Given the description of an element on the screen output the (x, y) to click on. 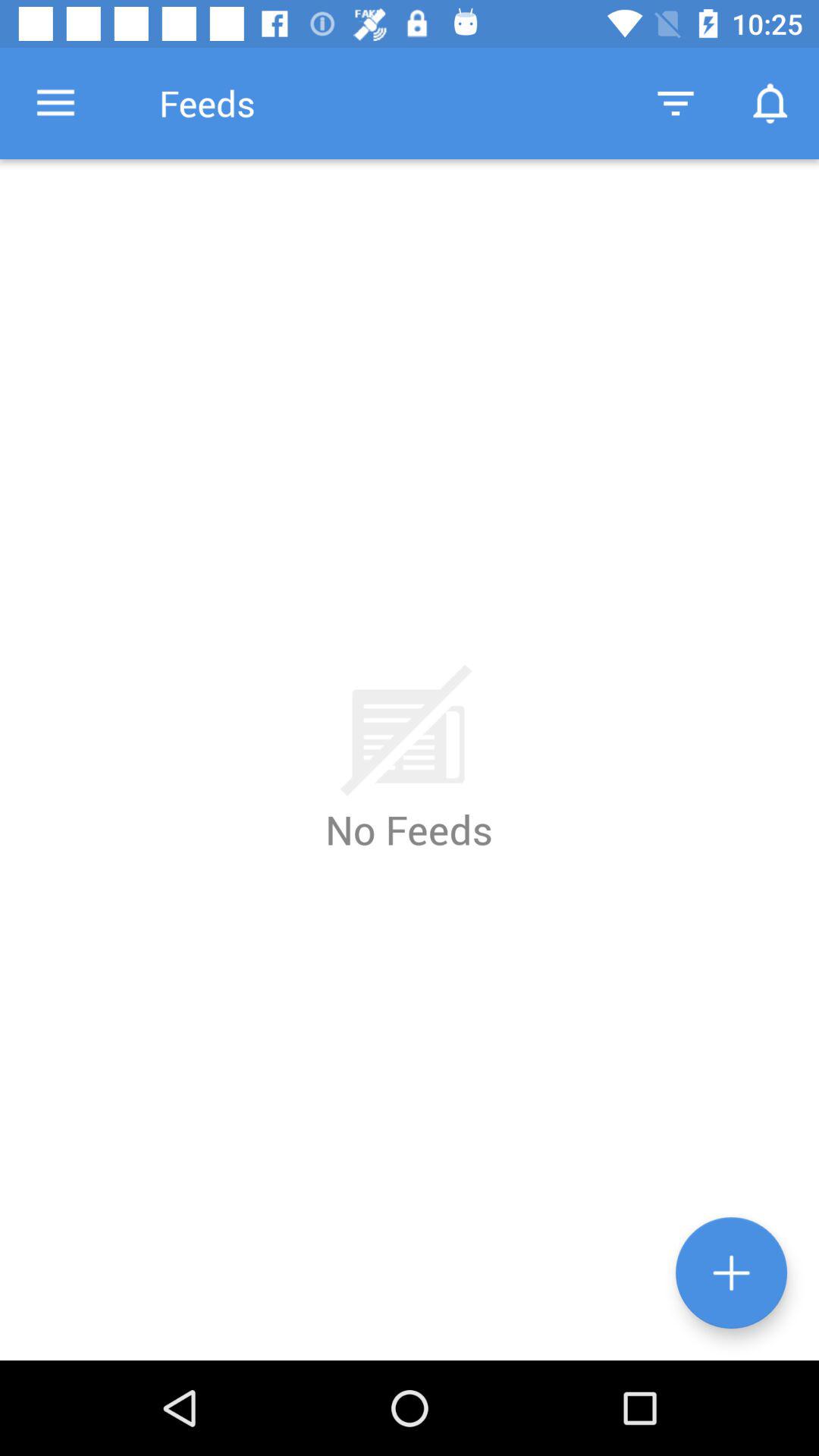
open the icon at the bottom right corner (731, 1272)
